Given the description of an element on the screen output the (x, y) to click on. 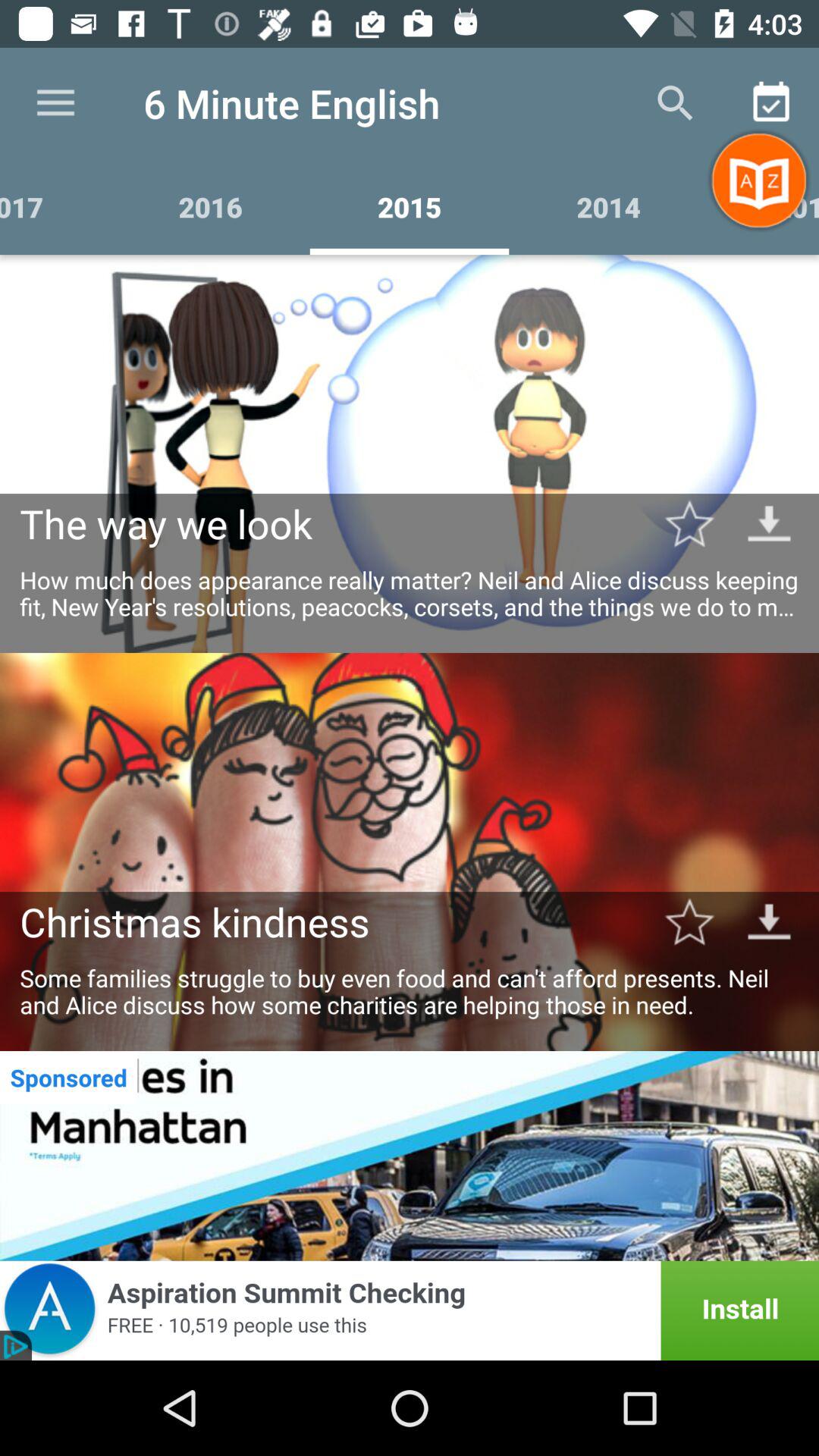
download button (769, 523)
